Given the description of an element on the screen output the (x, y) to click on. 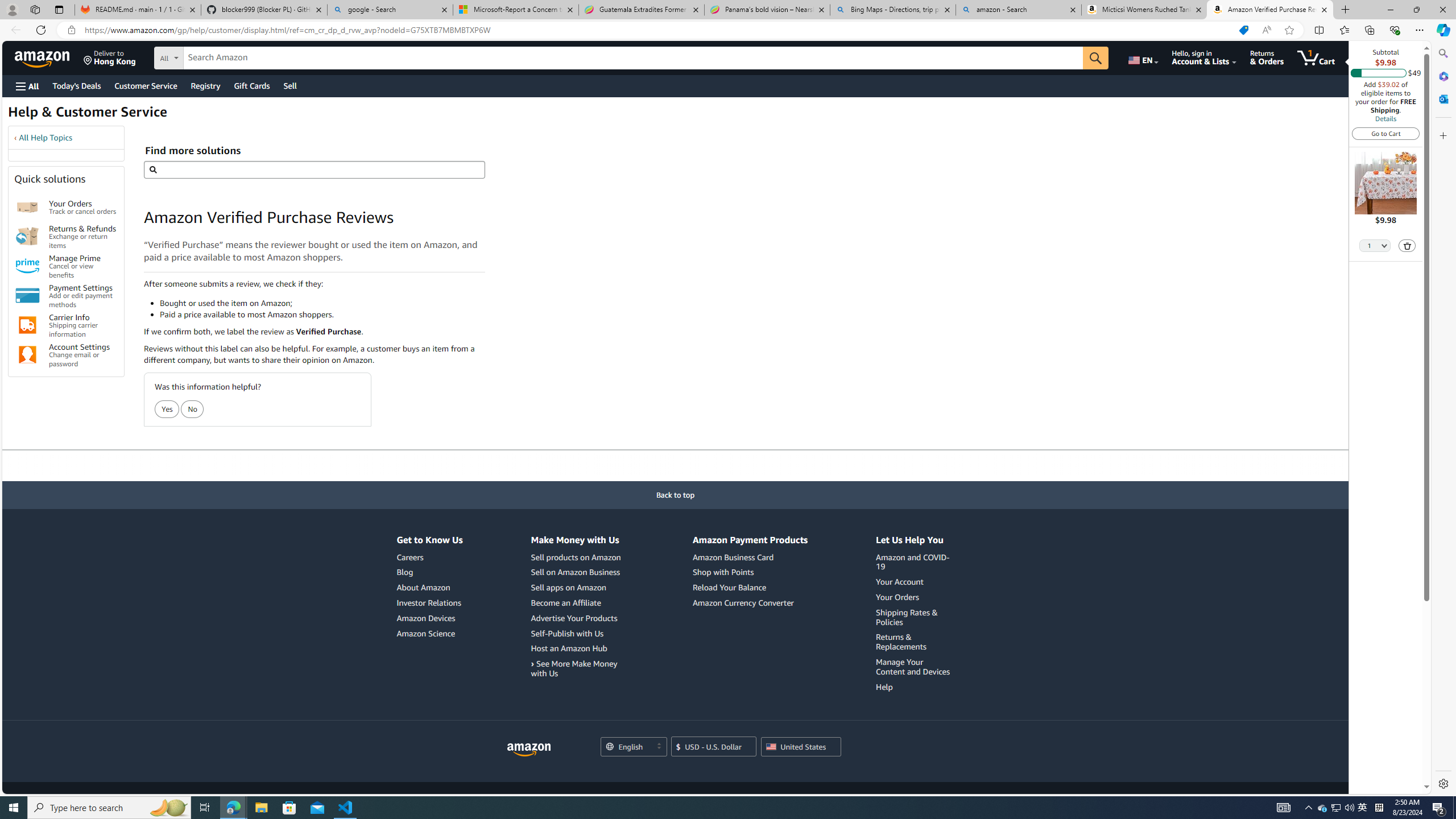
Amazon Devices (425, 617)
Amazon US Home (528, 749)
Gift Cards (251, 85)
Blog (404, 572)
Search in (210, 56)
Manage Prime (27, 266)
Your Account (899, 581)
Returns & Refunds Exchange or return items (82, 236)
Manage Prime Cancel or view benefits (82, 266)
Sell apps on Amazon (576, 587)
